Given the description of an element on the screen output the (x, y) to click on. 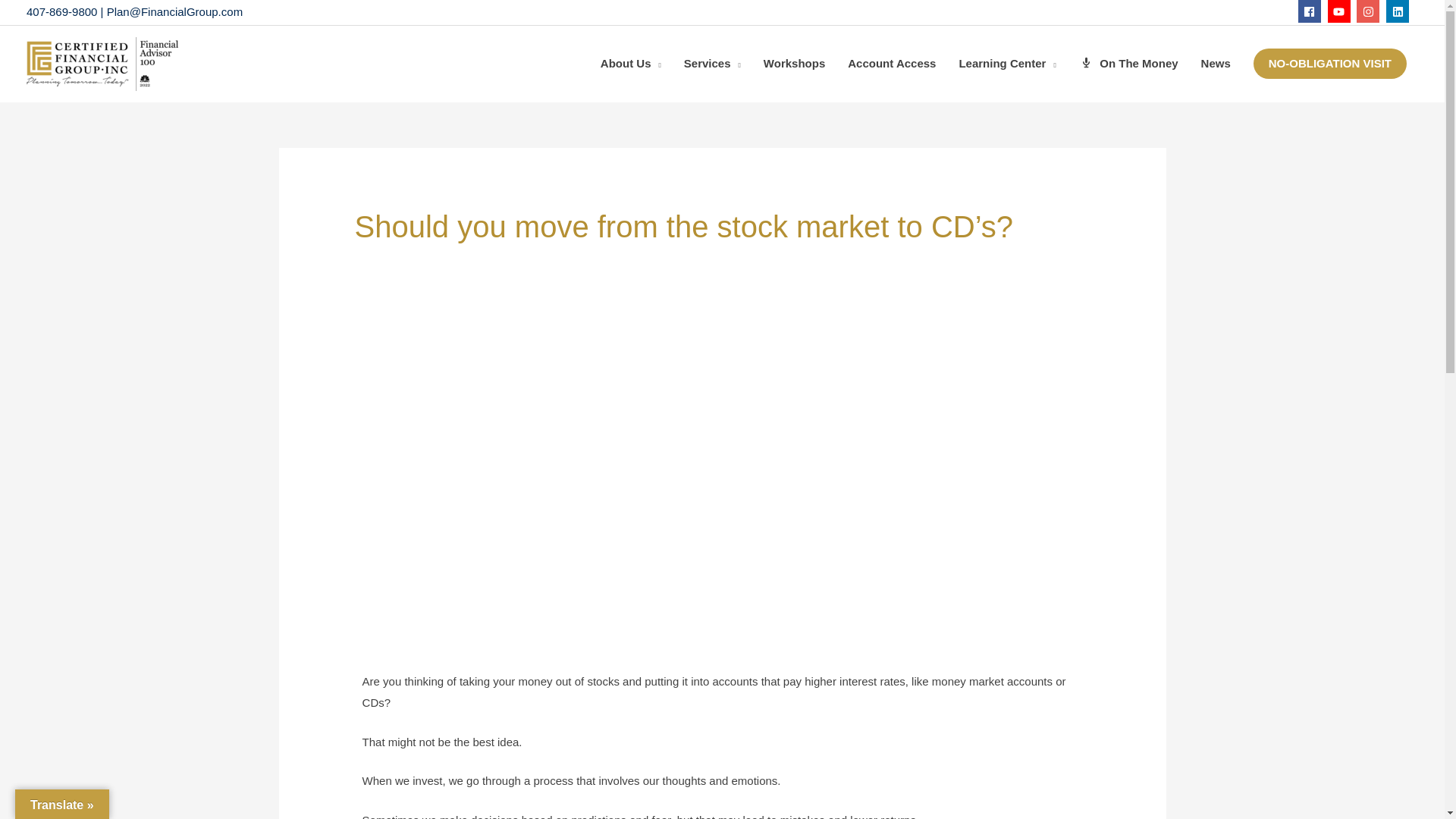
407-869-9800 (61, 11)
On The Money (1128, 63)
Learning Center (1007, 63)
Account Access (891, 63)
Services (712, 63)
About Us (630, 63)
Workshops (793, 63)
News (1215, 63)
NO-OBLIGATION VISIT (1329, 63)
